Given the description of an element on the screen output the (x, y) to click on. 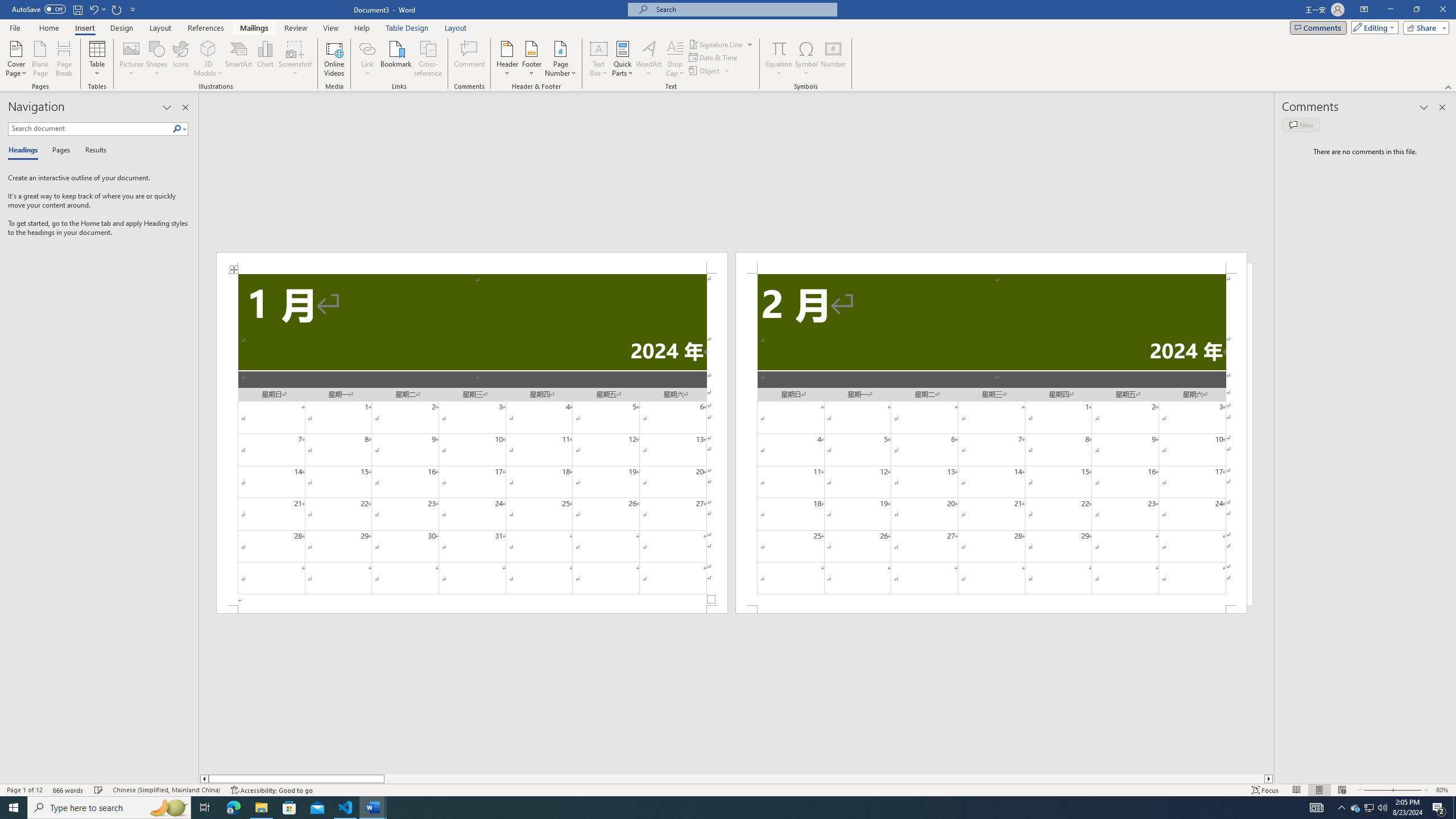
Language Chinese (Simplified, Mainland China) (165, 790)
Equation (778, 48)
Shapes (156, 58)
Comment (469, 58)
Undo Increase Indent (96, 9)
Column right (1268, 778)
Date & Time... (714, 56)
3D Models (208, 48)
Drop Cap (674, 58)
